Given the description of an element on the screen output the (x, y) to click on. 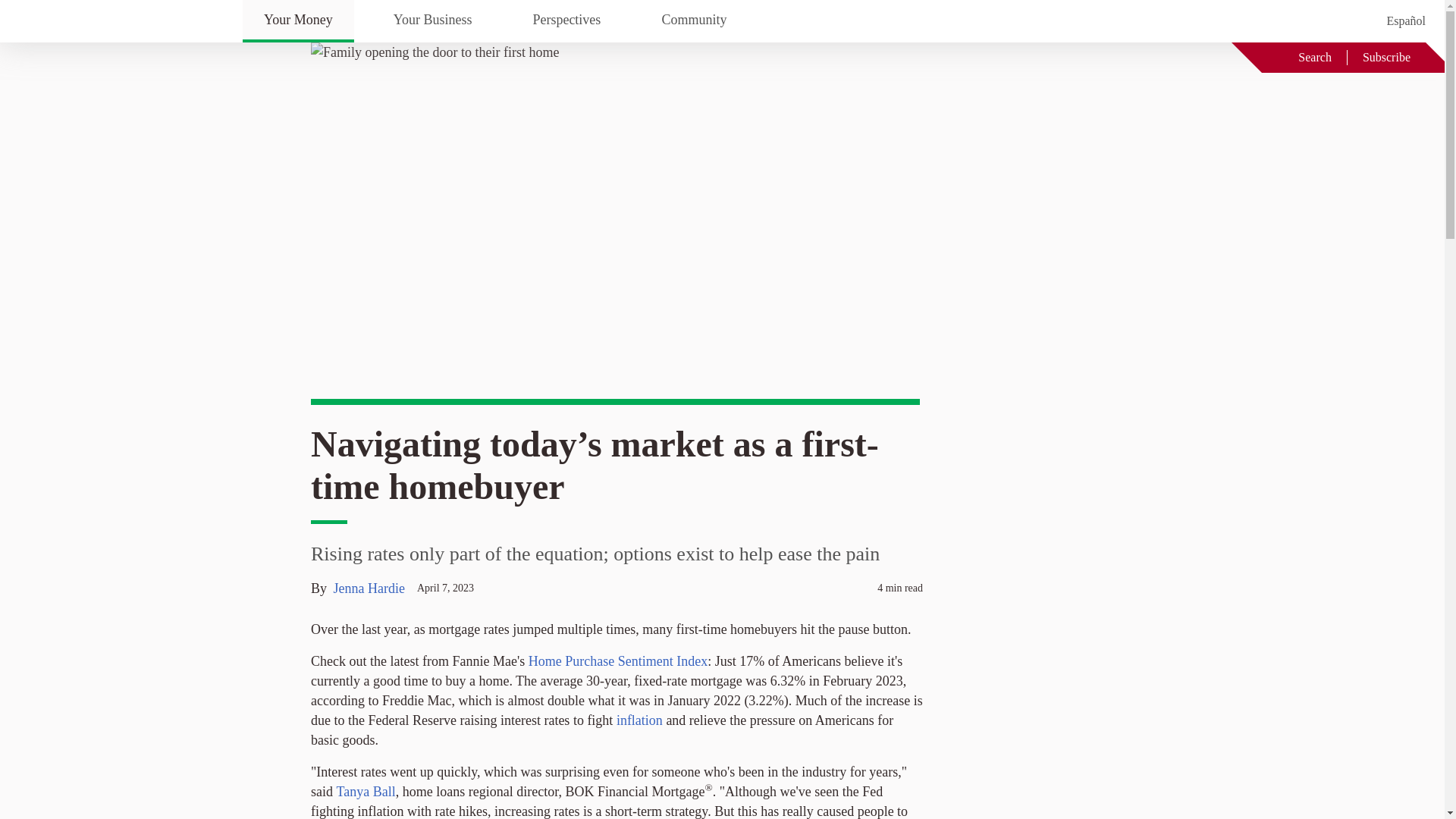
Your Business (432, 21)
Perspectives (566, 21)
Search (1304, 56)
Your Money (298, 21)
Community (694, 21)
Subscribe (1386, 56)
